Given the description of an element on the screen output the (x, y) to click on. 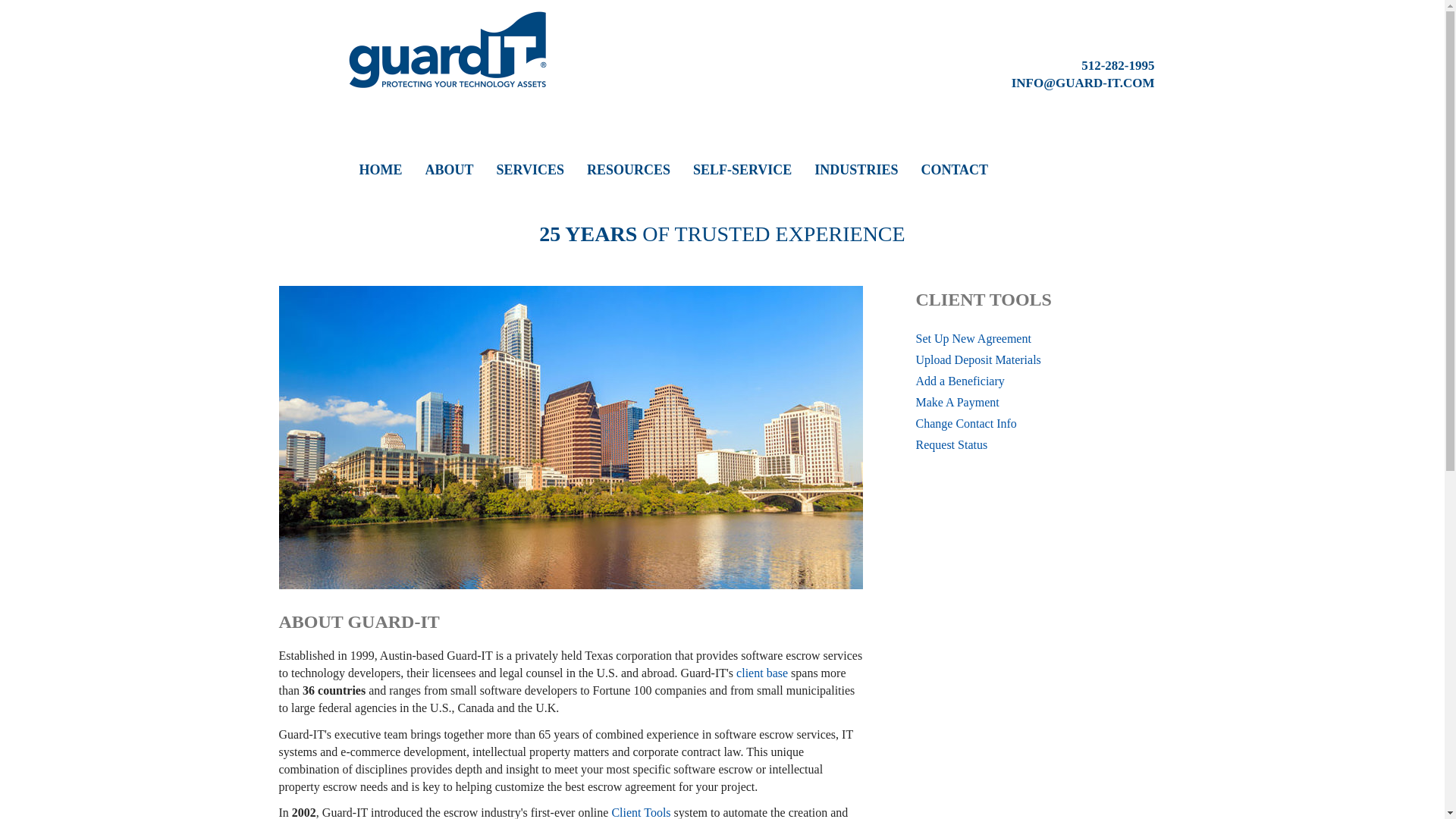
RESOURCES (627, 170)
SELF-SERVICE (742, 170)
CONTACT (954, 170)
512-282-1995 (1117, 65)
client base (761, 672)
SERVICES (530, 170)
Client Tools (640, 812)
HOME (381, 170)
INDUSTRIES (855, 170)
ABOUT (449, 170)
